Given the description of an element on the screen output the (x, y) to click on. 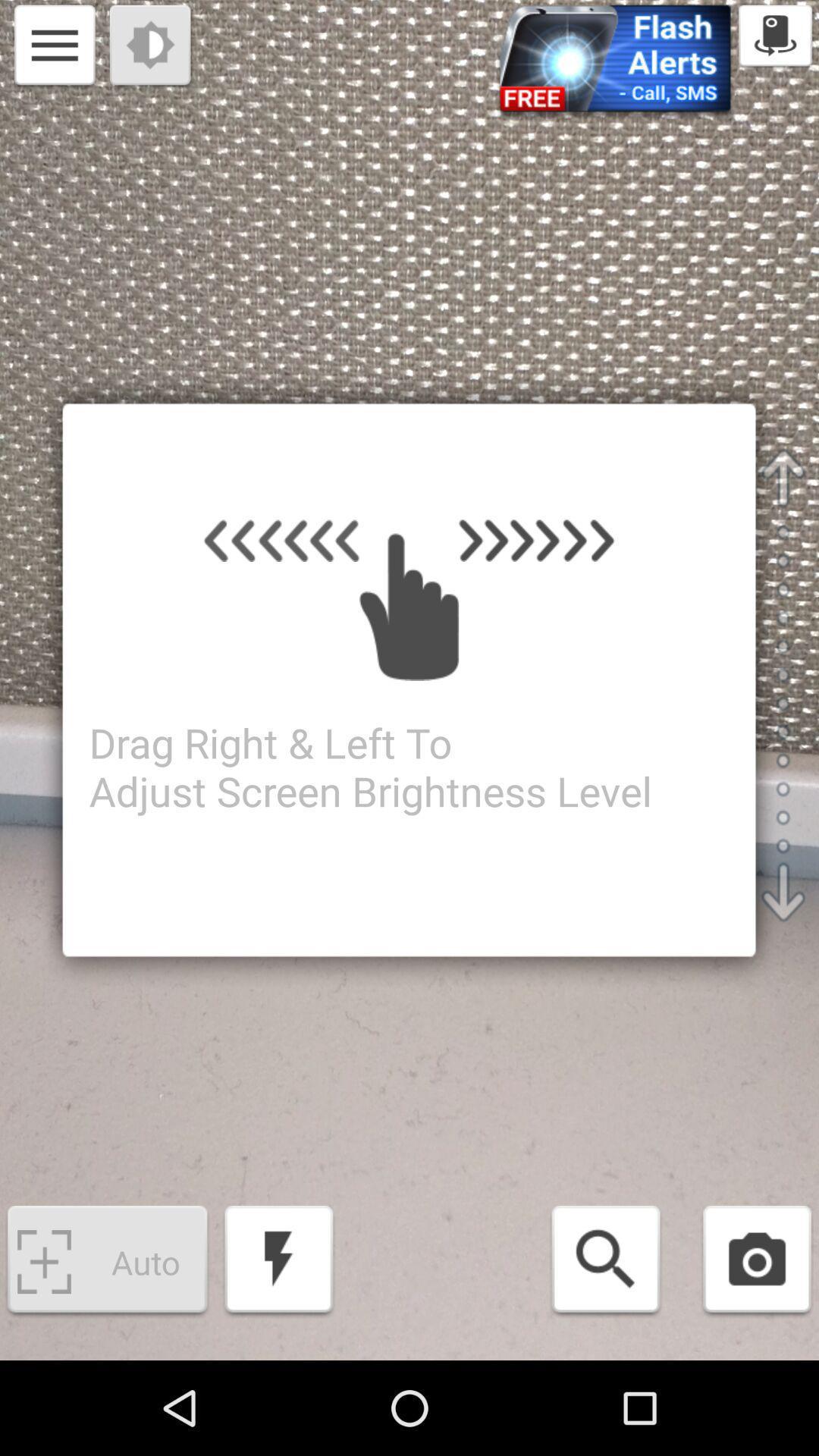
open free flash alerts advertisement (615, 62)
